Given the description of an element on the screen output the (x, y) to click on. 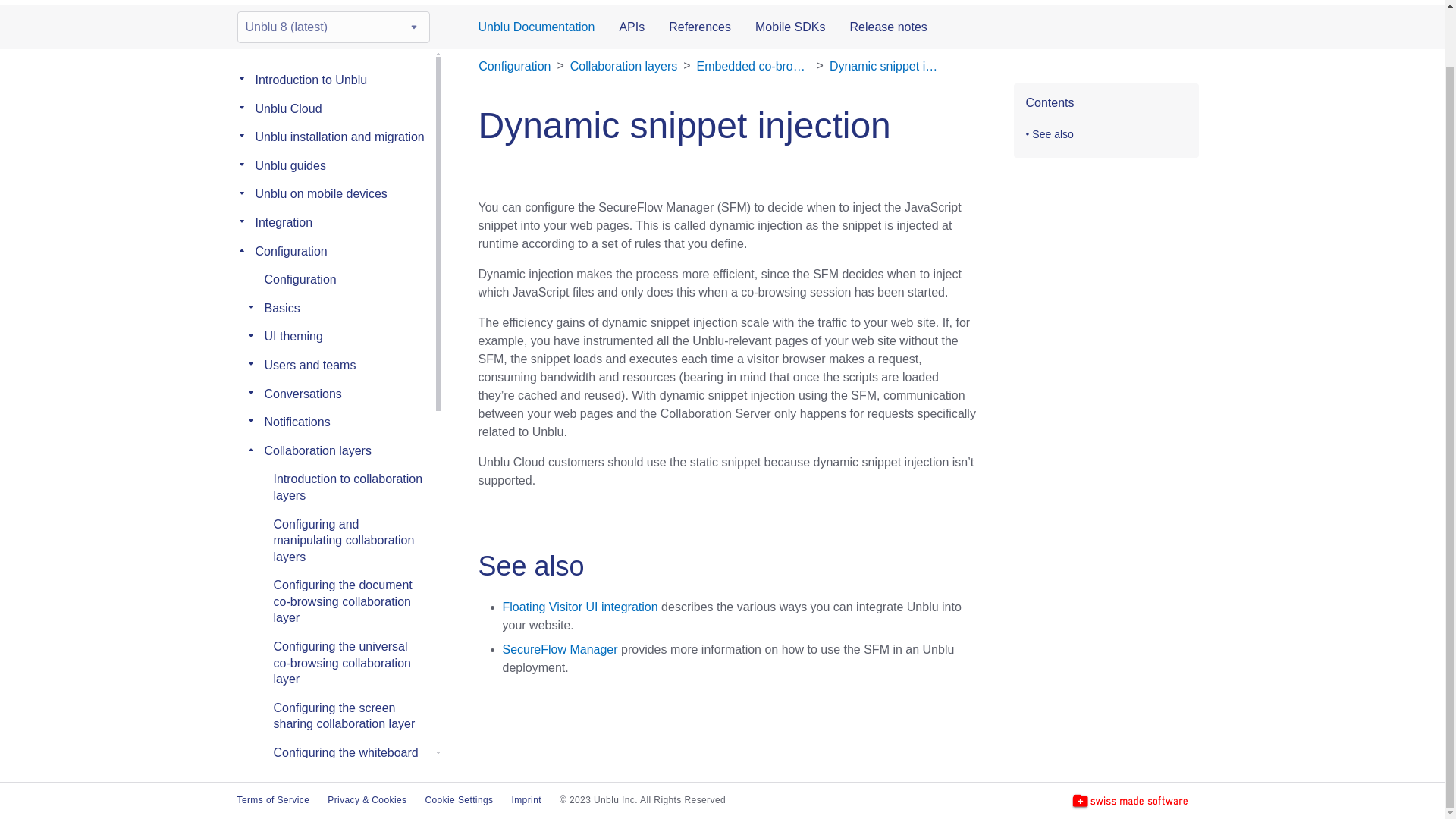
Unblu installation and migration (338, 136)
Unblu Cloud (287, 108)
Unblu Documentation (535, 26)
Introduction to Unblu (310, 79)
